Given the description of an element on the screen output the (x, y) to click on. 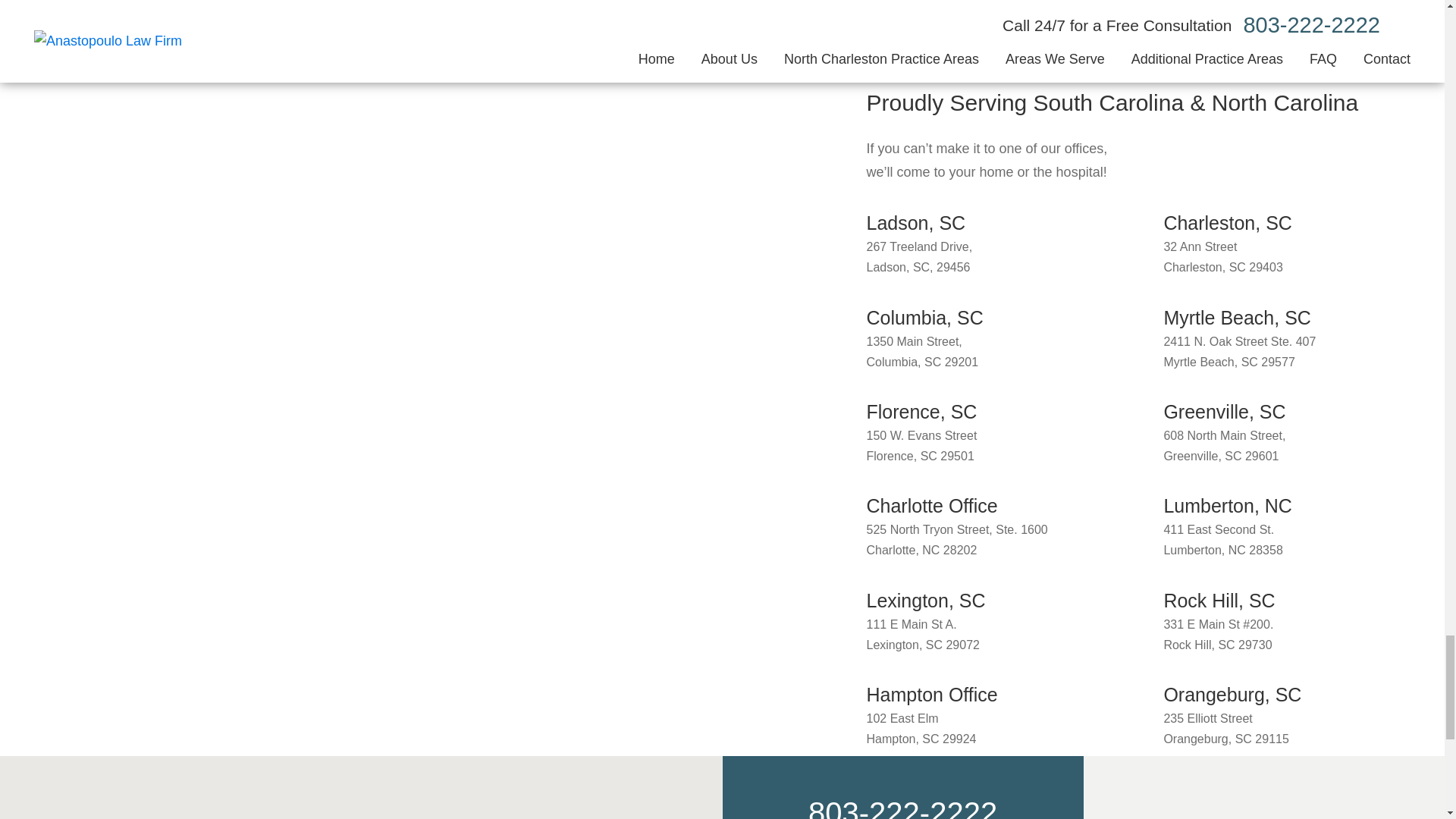
map (1136, 409)
map (839, 599)
Facebook (1212, 810)
map (839, 692)
map (839, 220)
map (839, 315)
Locations (34, 6)
Linkedin (1314, 810)
linkedin (1314, 810)
Anastopoulo Law Firm (361, 787)
